Given the description of an element on the screen output the (x, y) to click on. 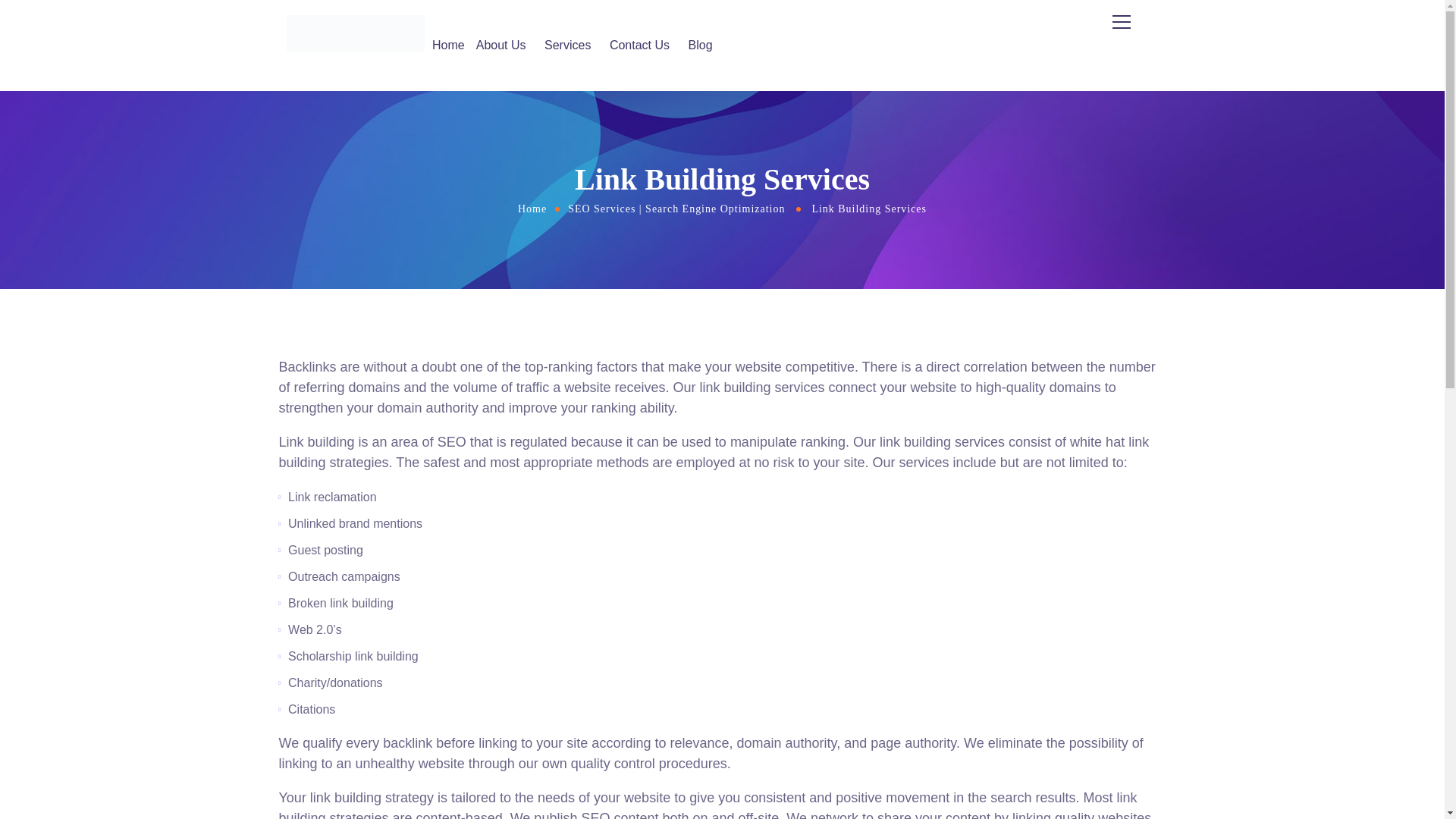
Search (1073, 67)
Contact Us (643, 45)
DigitalDucats (355, 33)
About Us (504, 45)
Home (531, 208)
